Given the description of an element on the screen output the (x, y) to click on. 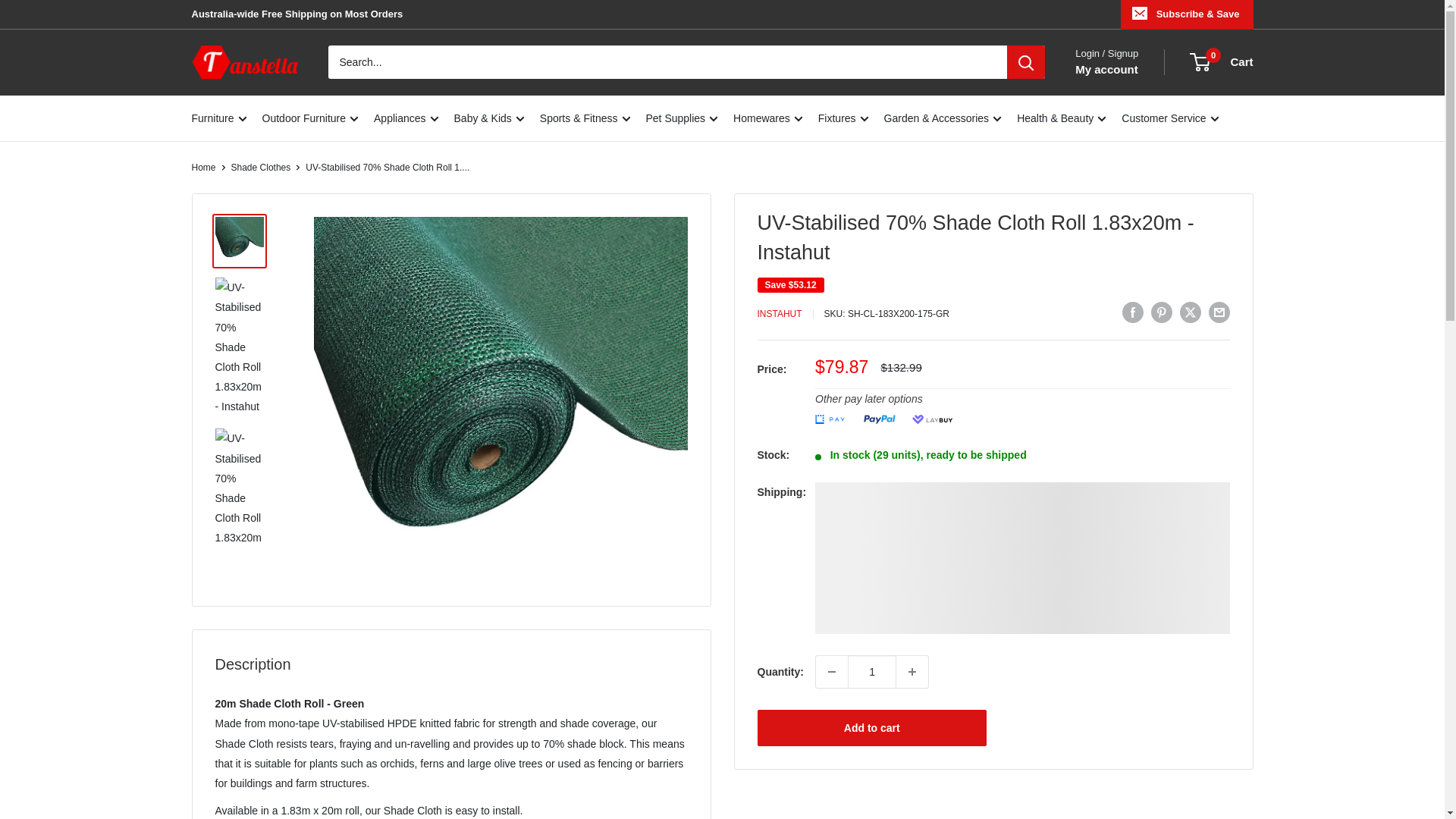
1 (871, 671)
Decrease quantity by 1 (831, 671)
Australia-wide Free Shipping on Most Orders (296, 14)
Increase quantity by 1 (912, 671)
